Given the description of an element on the screen output the (x, y) to click on. 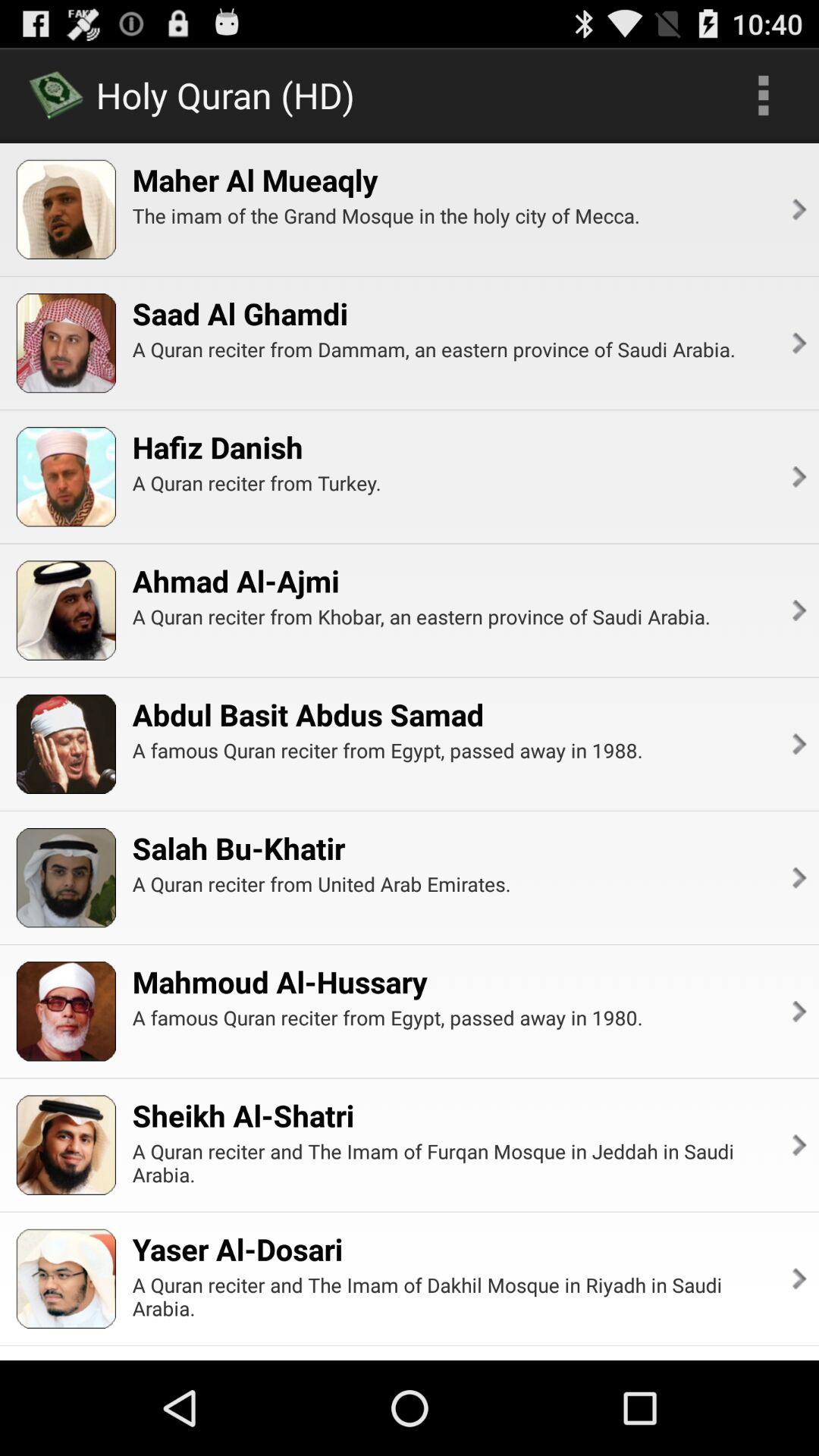
press the icon below a quran reciter app (308, 714)
